Given the description of an element on the screen output the (x, y) to click on. 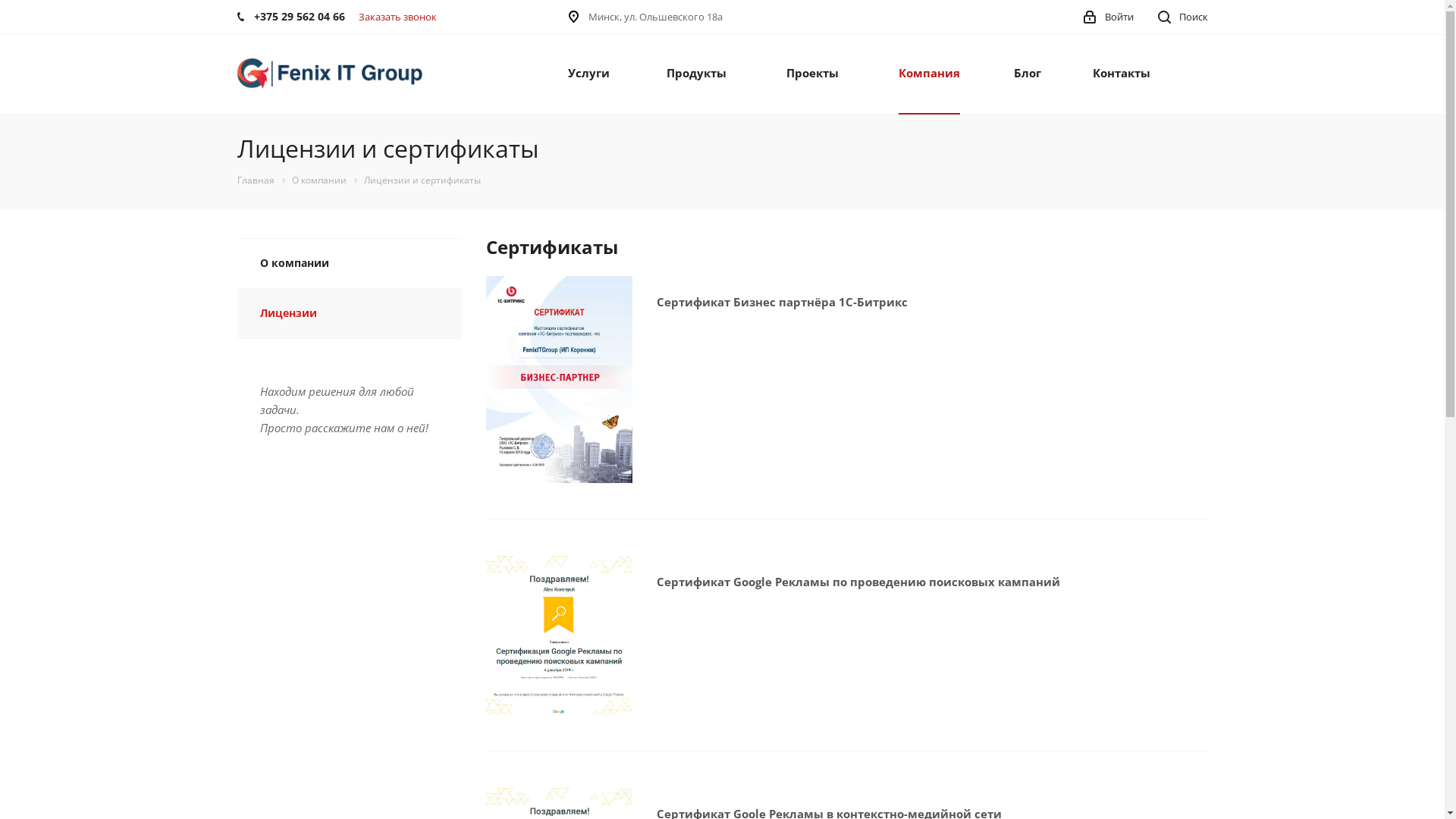
FenixITGroup Element type: hover (329, 73)
